Given the description of an element on the screen output the (x, y) to click on. 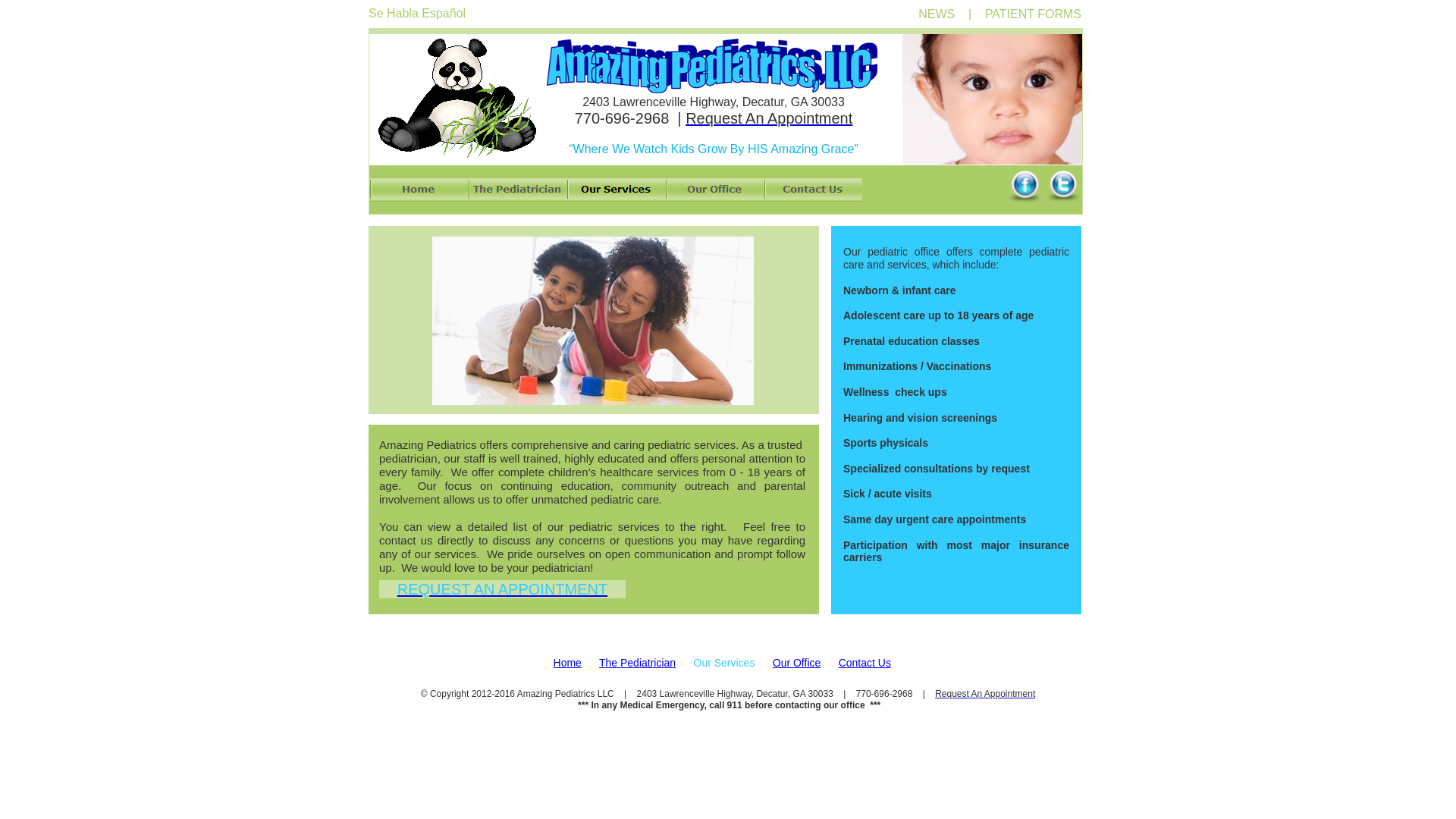
Home (566, 662)
Request An Appointment (768, 117)
REQUEST AN APPOINTMENT (502, 588)
Home (418, 188)
Our Office (797, 662)
Request An Appointment (984, 693)
Our Office (713, 188)
Contact Us (864, 662)
The Pediatrician (636, 662)
Amazing Pediatrics Tucker, GA (457, 96)
Contact Us (811, 188)
"Follow Us" On Twitter (1062, 184)
Our Services (615, 188)
"Like Us" On Facebook (1024, 184)
The Pediatrician (516, 188)
